Given the description of an element on the screen output the (x, y) to click on. 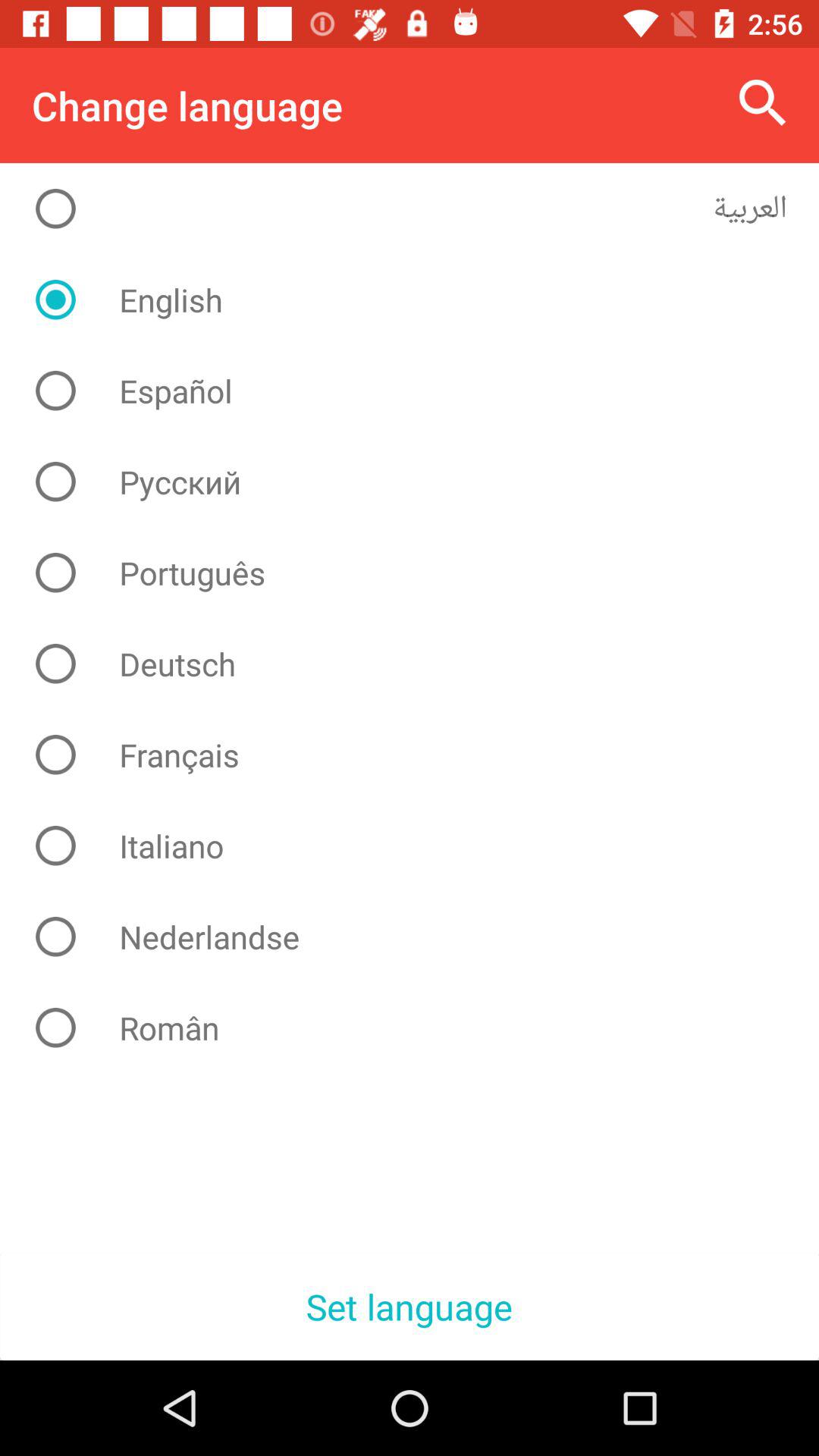
click the english (421, 299)
